Given the description of an element on the screen output the (x, y) to click on. 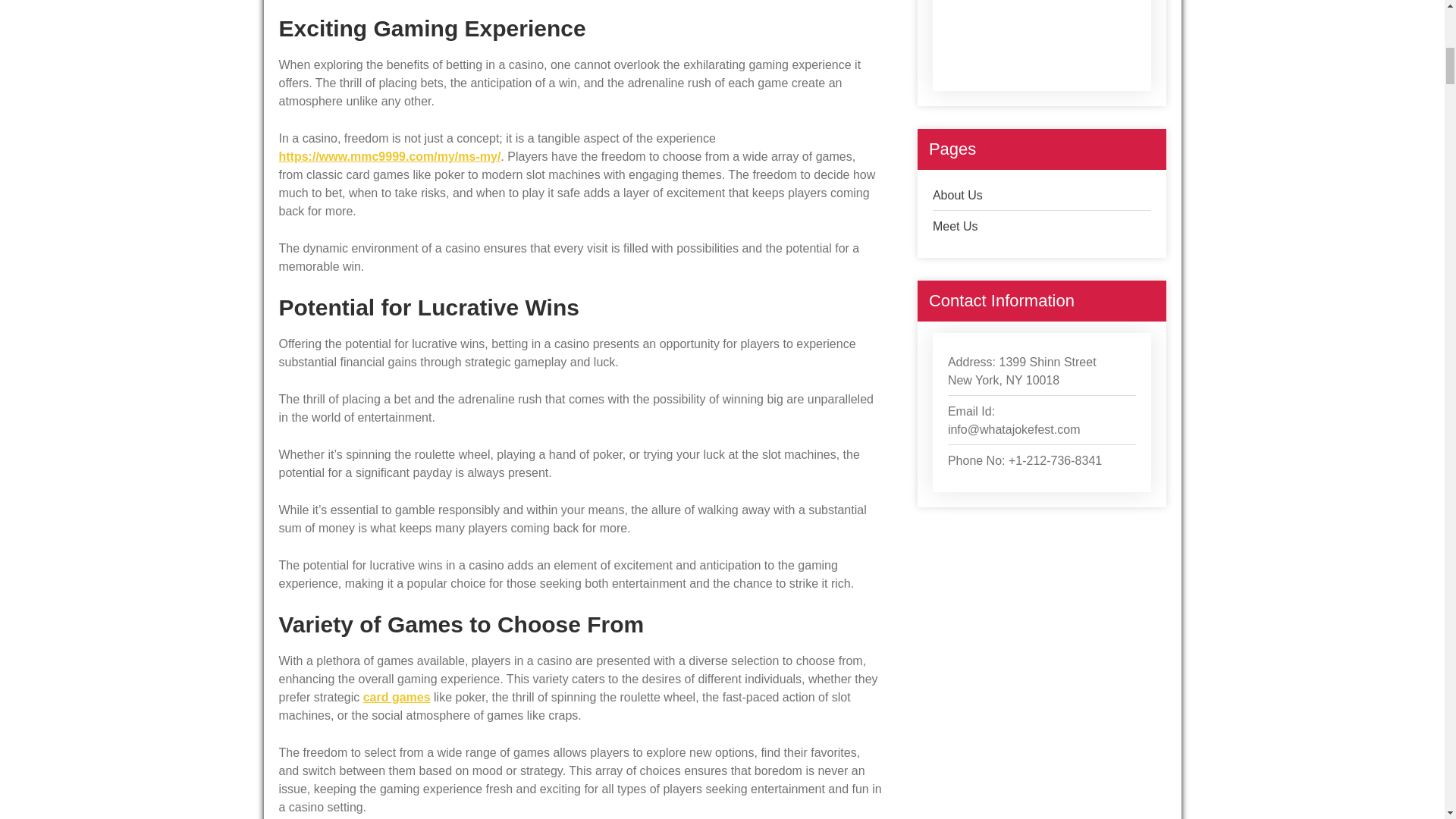
card games (396, 697)
